Given the description of an element on the screen output the (x, y) to click on. 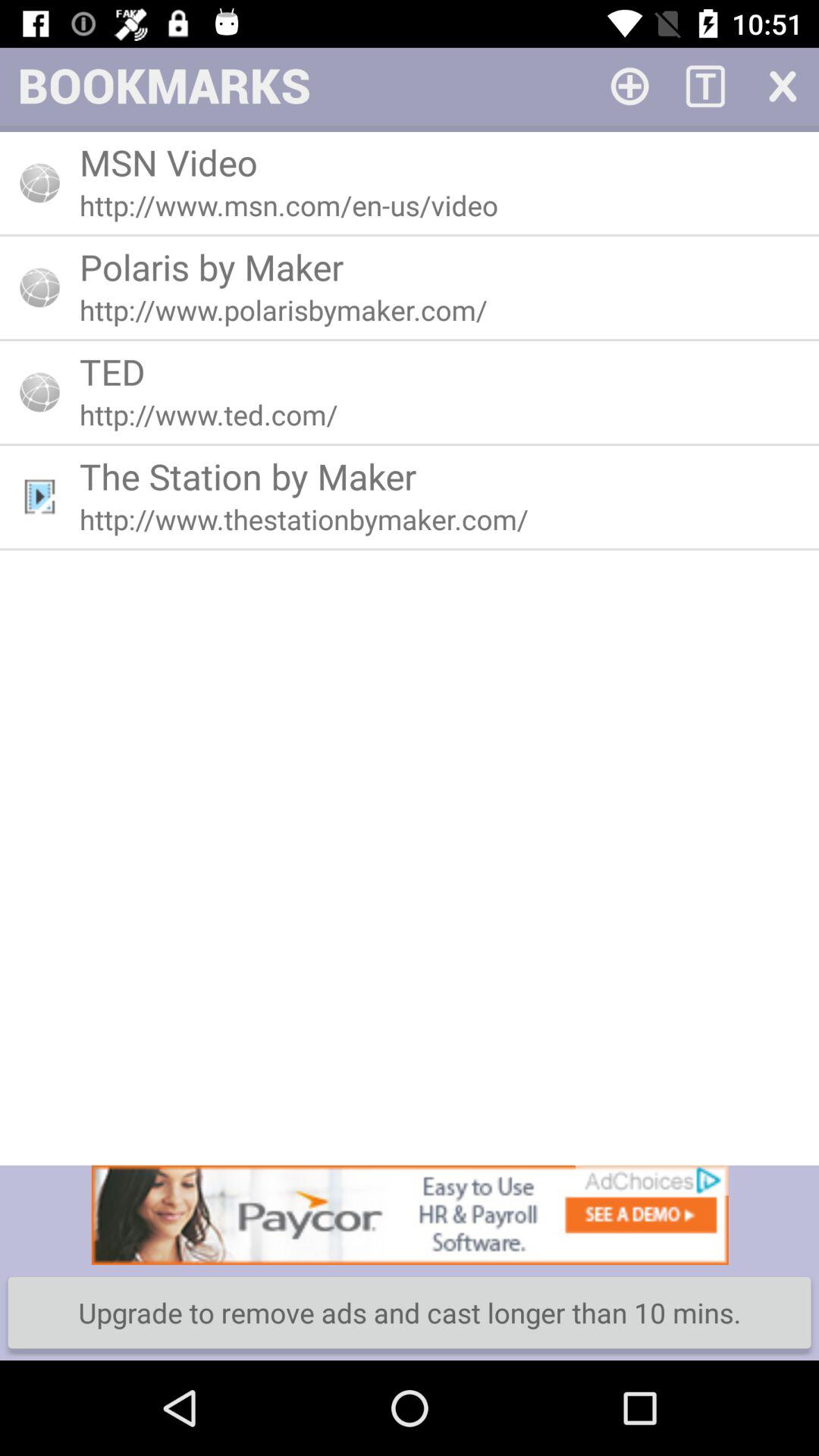
book mark (629, 85)
